Given the description of an element on the screen output the (x, y) to click on. 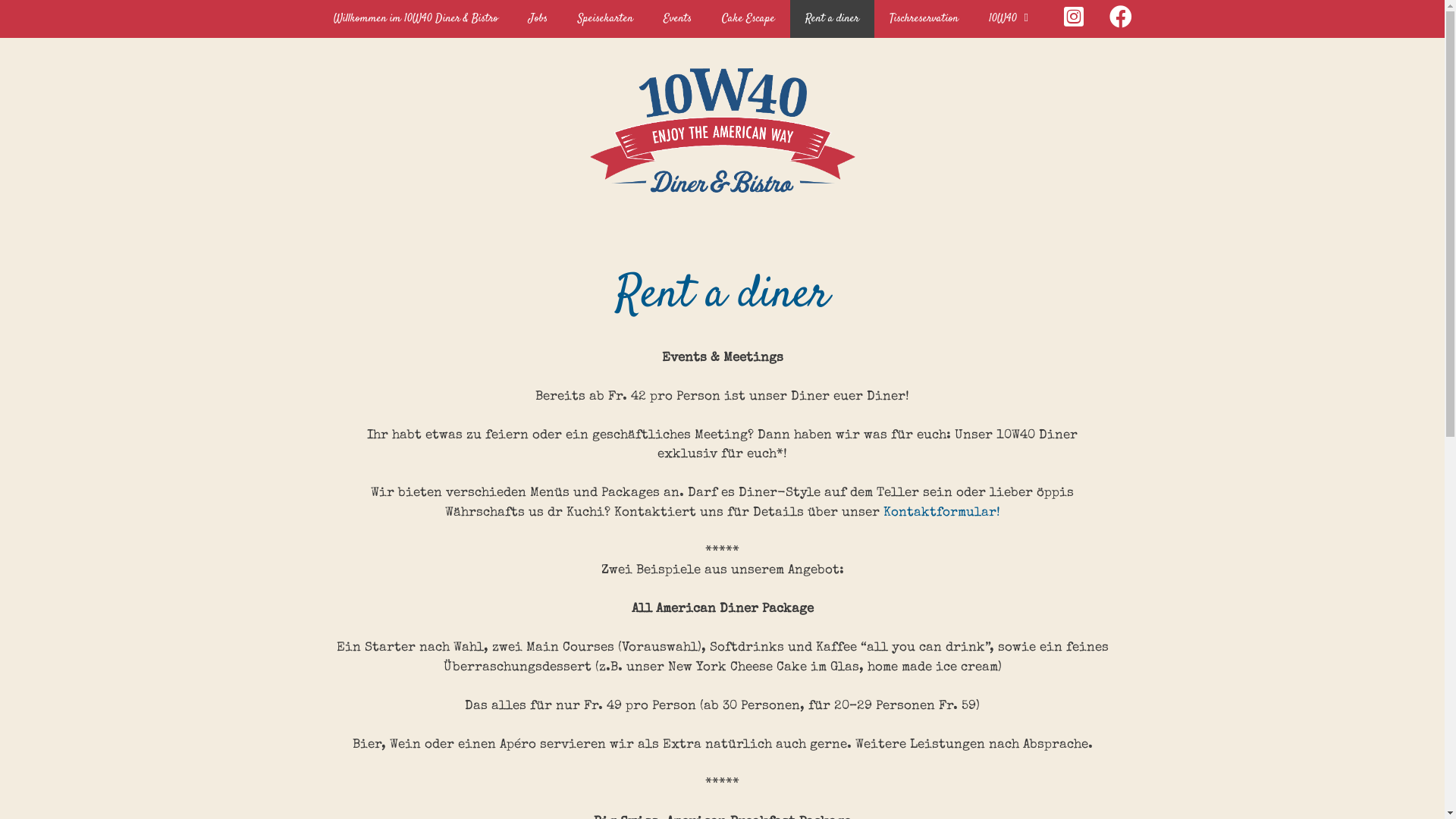
Speisekarten Element type: text (605, 18)
Willkommen im 10W40 Diner & Bistro Element type: text (415, 18)
Tischreservation Element type: text (922, 18)
Cake Escape Element type: text (748, 18)
Jobs Element type: text (536, 18)
Kontaktformular! Element type: text (940, 512)
Events Element type: text (676, 18)
Rent a diner Element type: text (832, 18)
10W40 Element type: text (1010, 18)
